Given the description of an element on the screen output the (x, y) to click on. 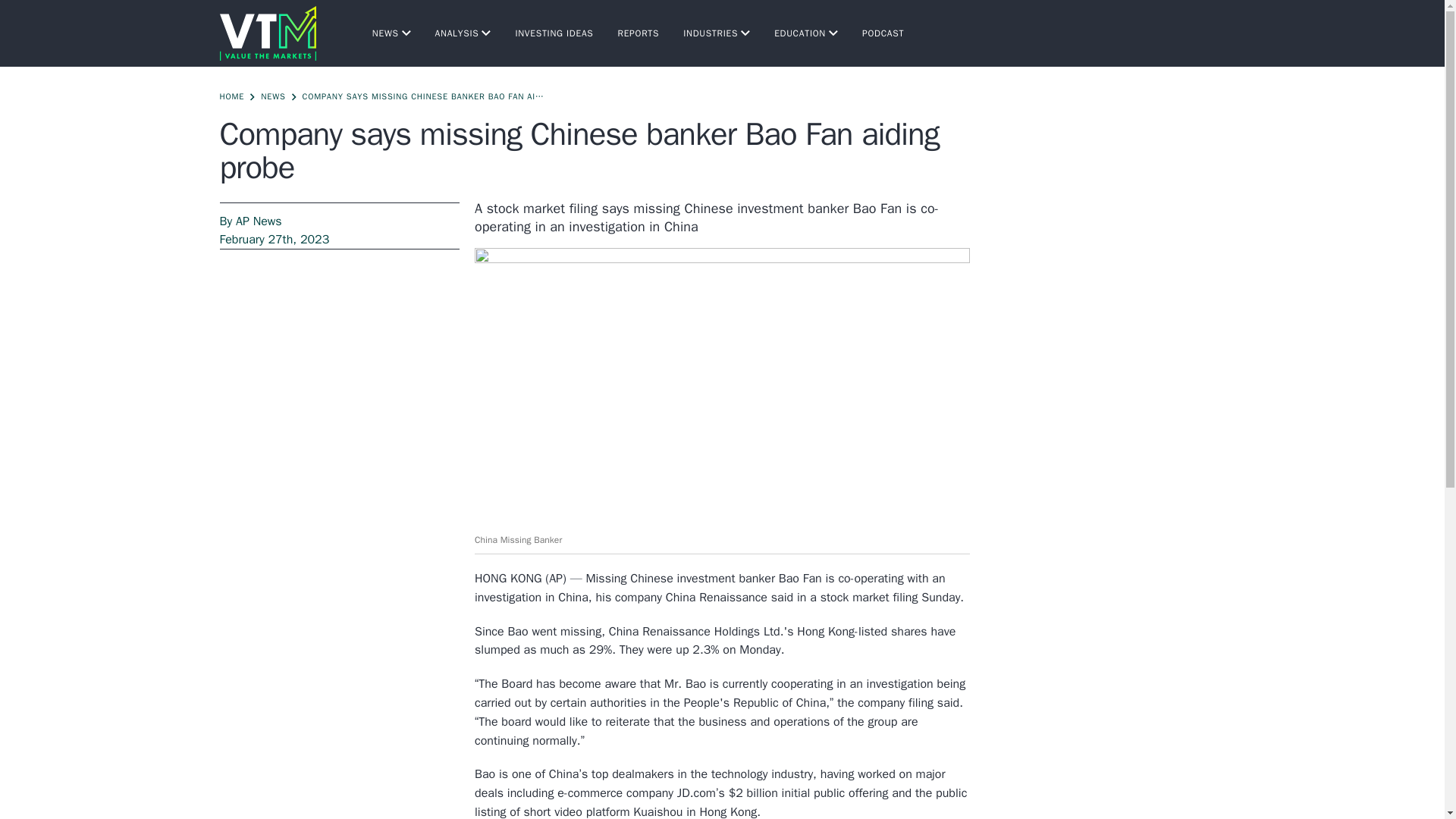
ANALYSIS (463, 33)
EDUCATION (806, 33)
INDUSTRIES (715, 33)
PODCAST (882, 33)
INVESTING IDEAS (553, 33)
NEWS (391, 33)
REPORTS (638, 33)
